Given the description of an element on the screen output the (x, y) to click on. 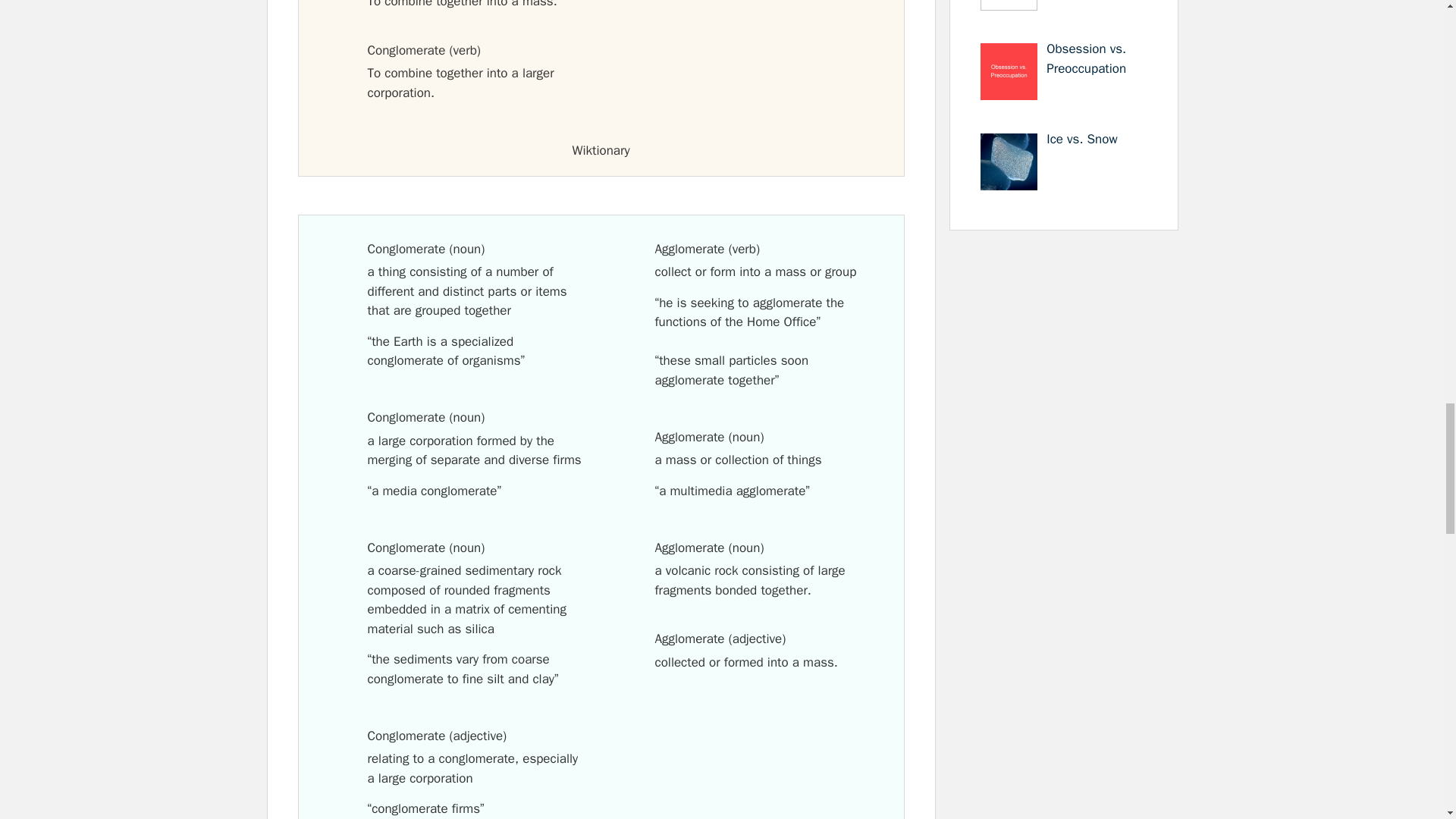
Obsession vs. Preoccupation (1085, 58)
Ice vs. Snow (1081, 139)
